Given the description of an element on the screen output the (x, y) to click on. 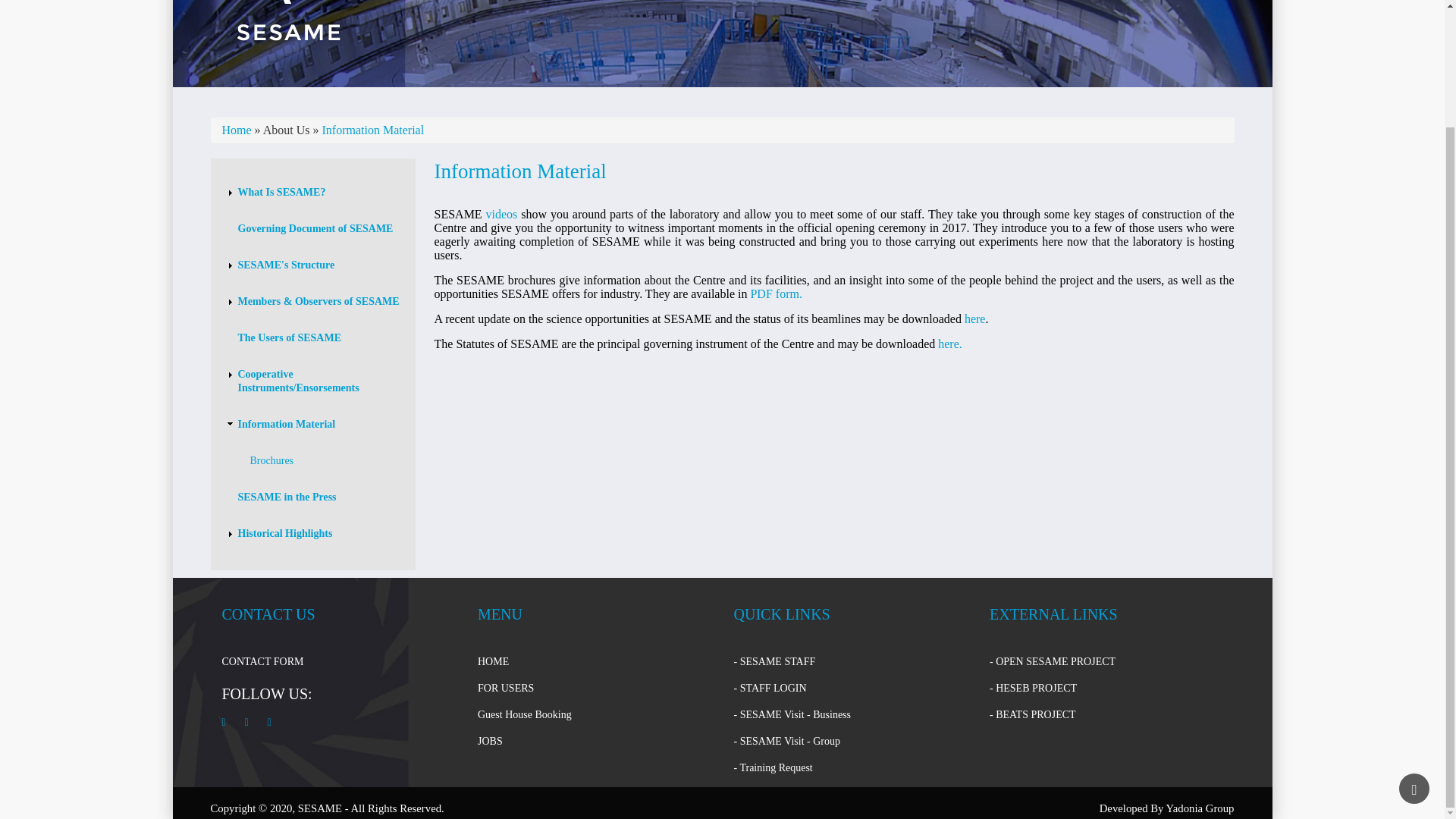
Home (288, 22)
SESAME in the Press (287, 496)
